Given the description of an element on the screen output the (x, y) to click on. 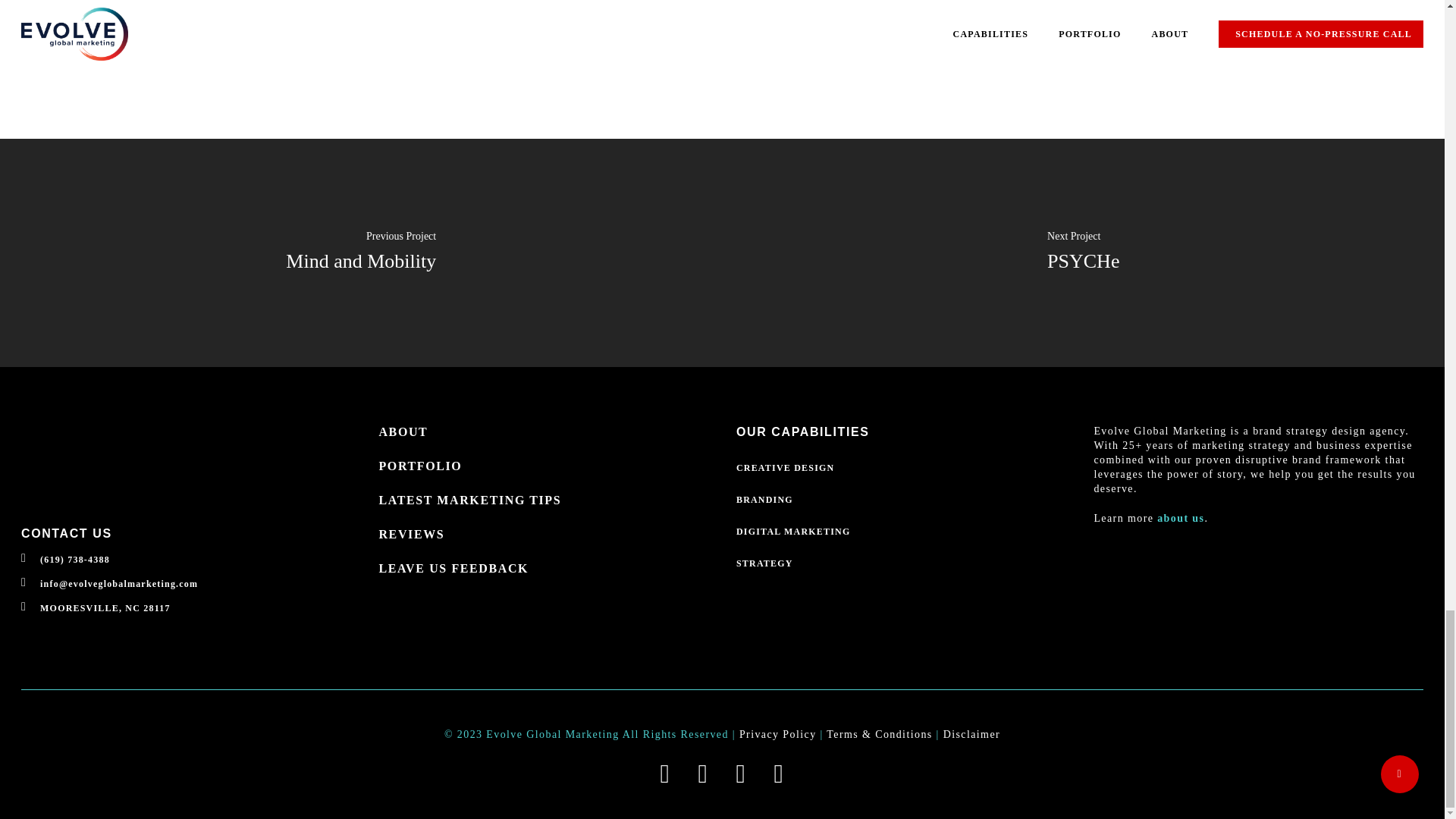
about us (1180, 518)
LATEST MARKETING TIPS (542, 500)
PORTFOLIO (542, 466)
DIGITAL MARKETING (900, 531)
Disclaimer (971, 734)
ABOUT (542, 432)
Privacy Policy (777, 734)
LEAVE US FEEDBACK (542, 568)
CONTACT US (66, 533)
CREATIVE DESIGN (900, 467)
REVIEWS (542, 534)
STRATEGY (900, 563)
BRANDING (900, 499)
